Given the description of an element on the screen output the (x, y) to click on. 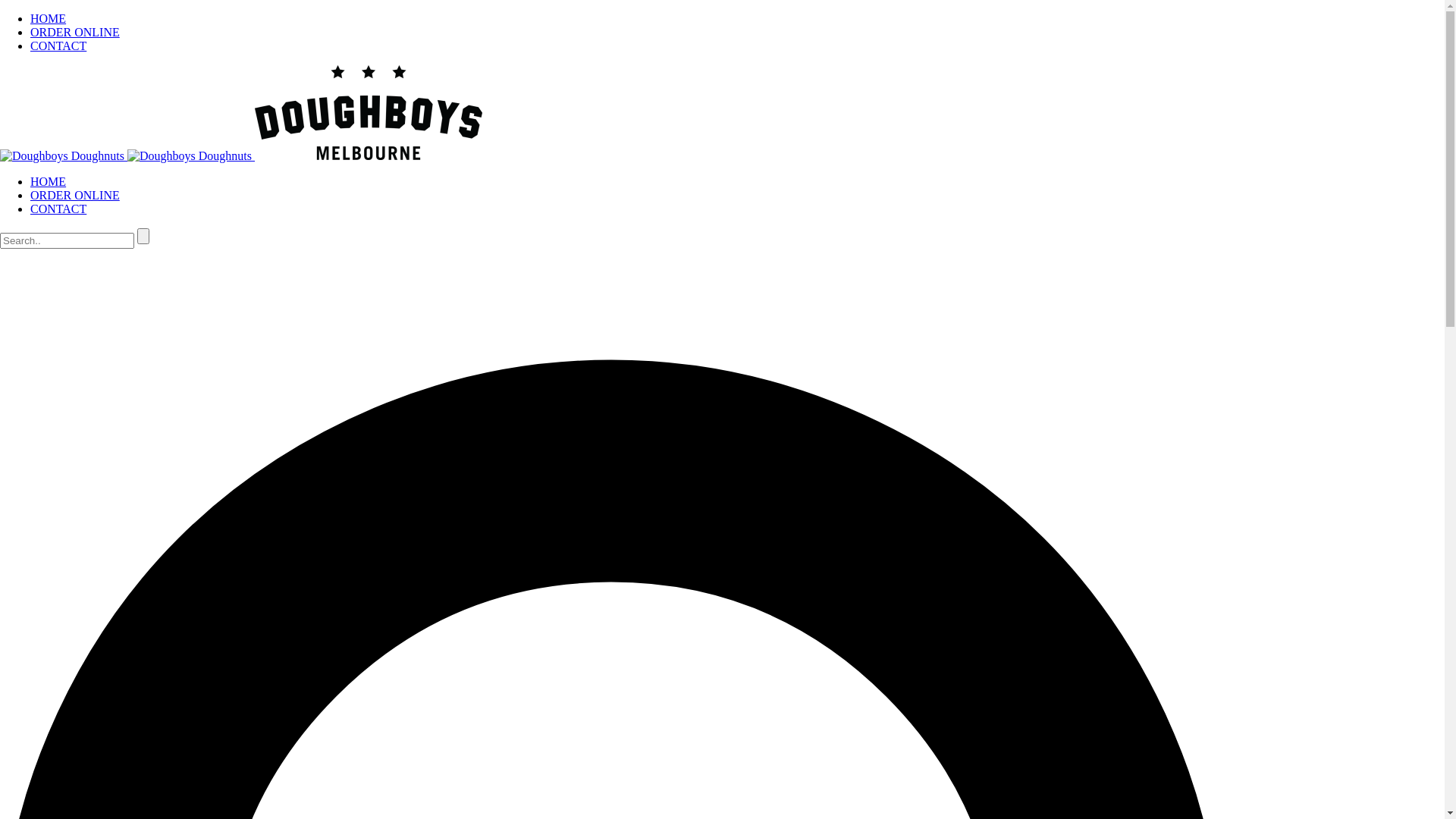
Doughboys Doughnuts Element type: hover (62, 156)
HOME Element type: text (47, 181)
Doughboys Doughnuts Element type: hover (189, 156)
CONTACT Element type: text (58, 45)
HOME Element type: text (47, 18)
CONTACT Element type: text (58, 208)
Doughboys Doughnuts Element type: hover (368, 112)
ORDER ONLINE Element type: text (74, 31)
Doughboys Doughnuts Element type: hover (241, 155)
ORDER ONLINE Element type: text (74, 194)
